Given the description of an element on the screen output the (x, y) to click on. 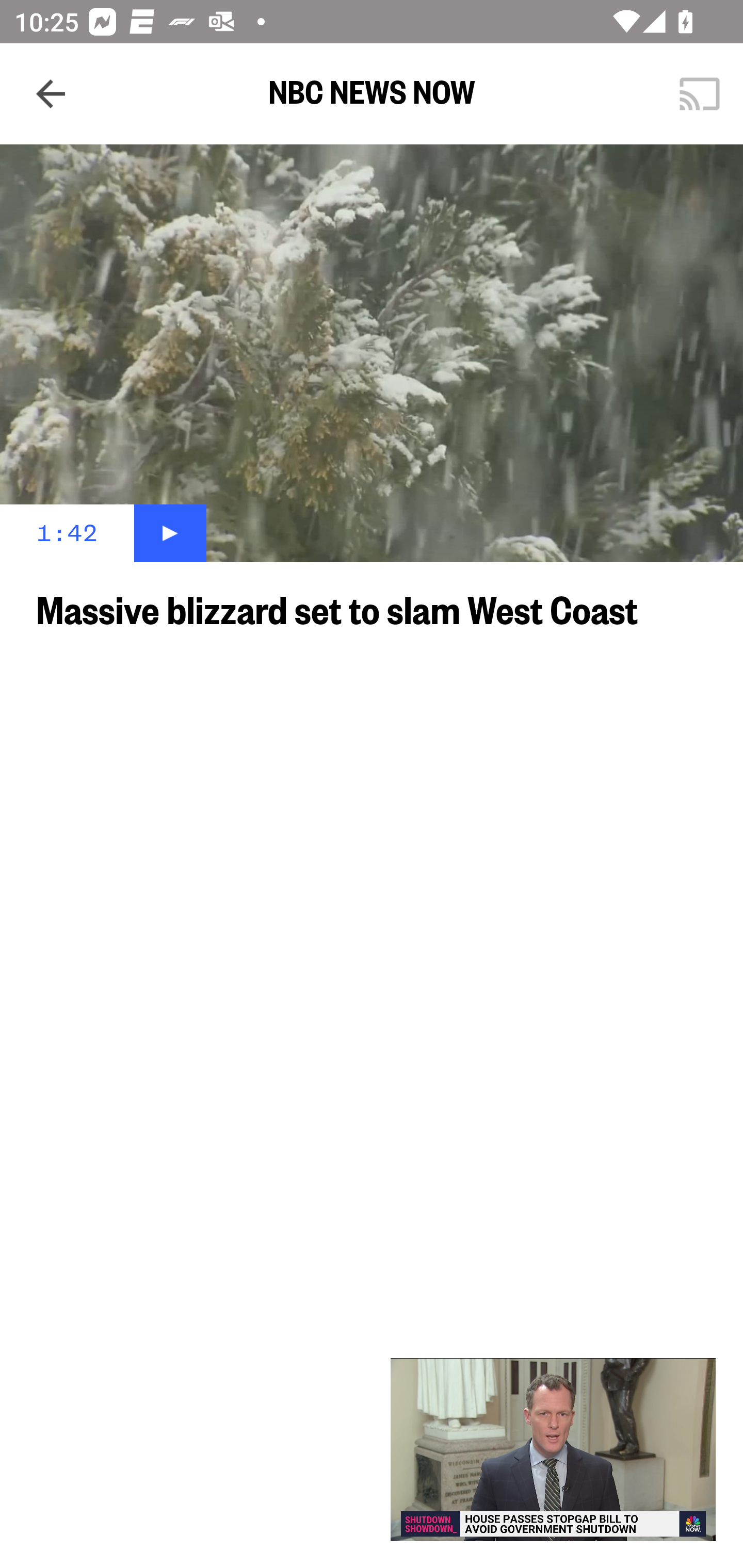
Navigate up (50, 93)
Cast. Disconnected (699, 93)
